Given the description of an element on the screen output the (x, y) to click on. 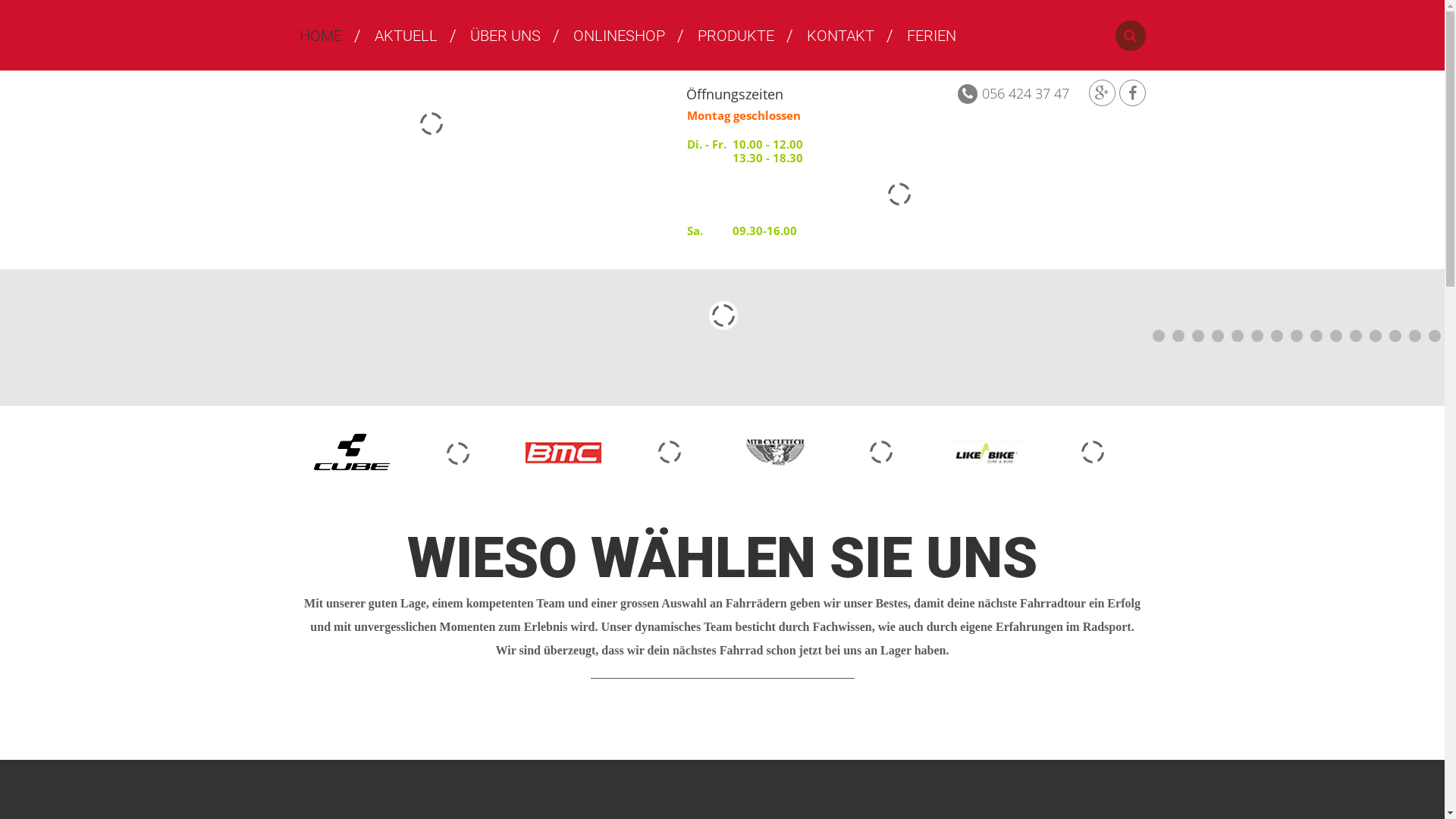
PRODUKTE Element type: text (735, 35)
FERIEN Element type: text (931, 35)
ONLINESHOP Element type: text (619, 35)
Facebook Element type: hover (1132, 92)
HOME Element type: text (319, 35)
AKTUELL Element type: text (405, 35)
Zum Online Schop Element type: hover (899, 246)
KONTAKT Element type: text (840, 35)
Google+ Element type: hover (1101, 92)
